Given the description of an element on the screen output the (x, y) to click on. 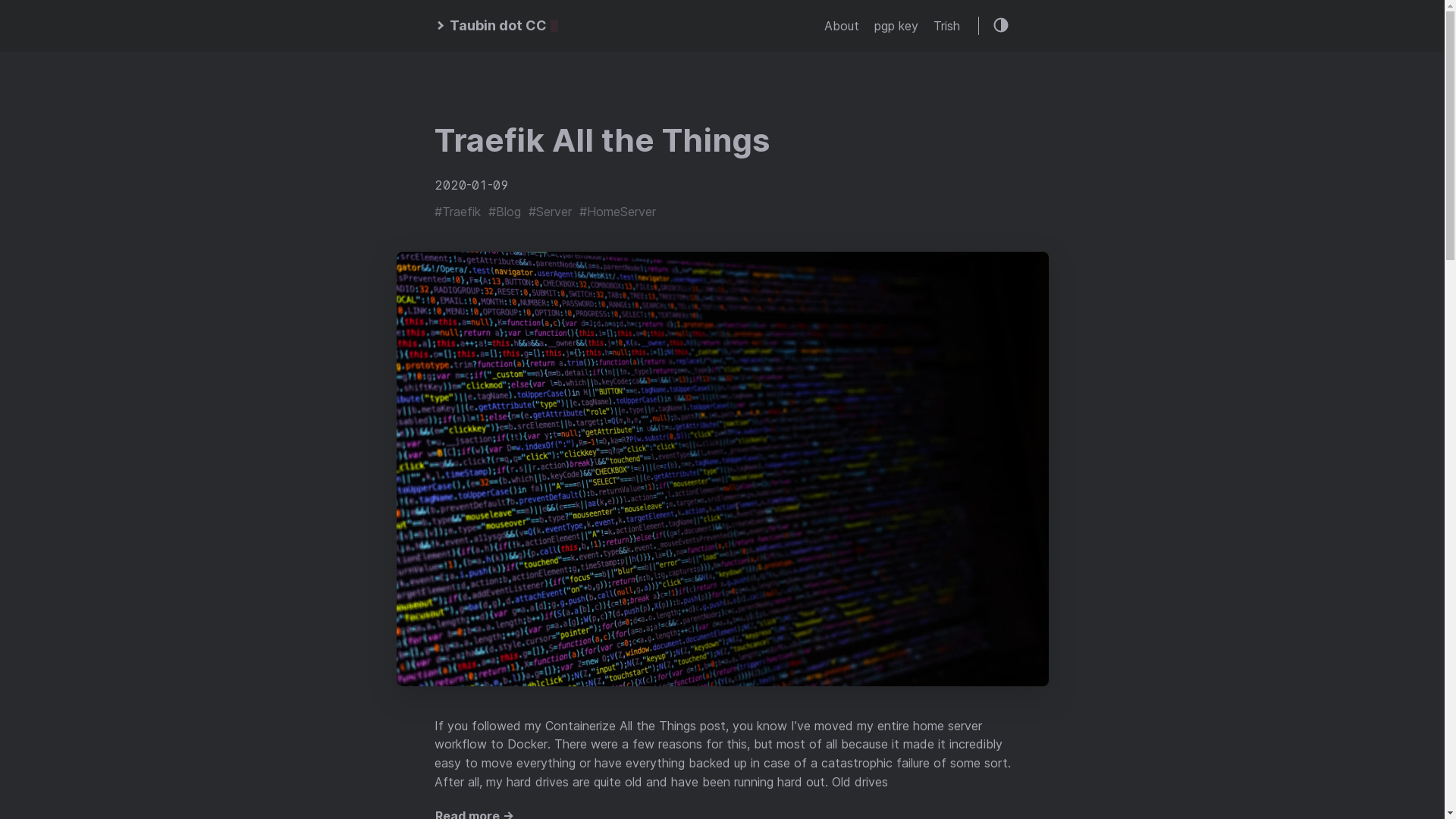
#Server Element type: text (549, 211)
Trish Element type: text (945, 25)
#Traefik Element type: text (456, 211)
pgp key Element type: text (895, 25)
#HomeServer Element type: text (617, 211)
About Element type: text (840, 25)
Traefik All the Things Element type: text (600, 139)
Taubin dot CC Element type: text (495, 25)
#Blog Element type: text (504, 211)
